Given the description of an element on the screen output the (x, y) to click on. 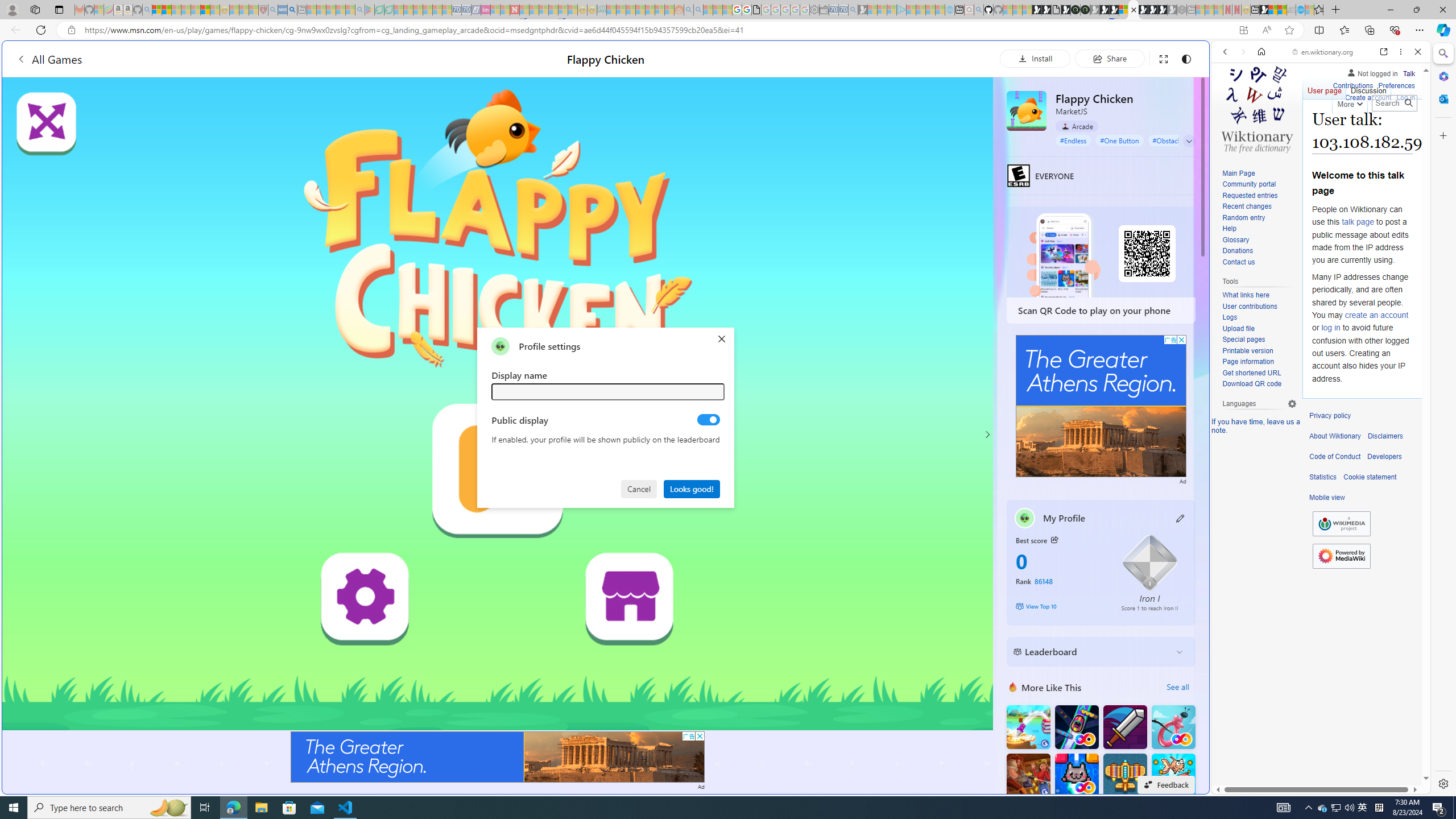
Arcade (1076, 125)
Statistics (1322, 477)
Download QR code (1259, 383)
New Report Confirms 2023 Was Record Hot | Watch - Sleeping (195, 9)
Developers (1384, 456)
World - MSN (727, 389)
Microsoft Start Gaming - Sleeping (862, 9)
Disclaimers (1385, 436)
